Given the description of an element on the screen output the (x, y) to click on. 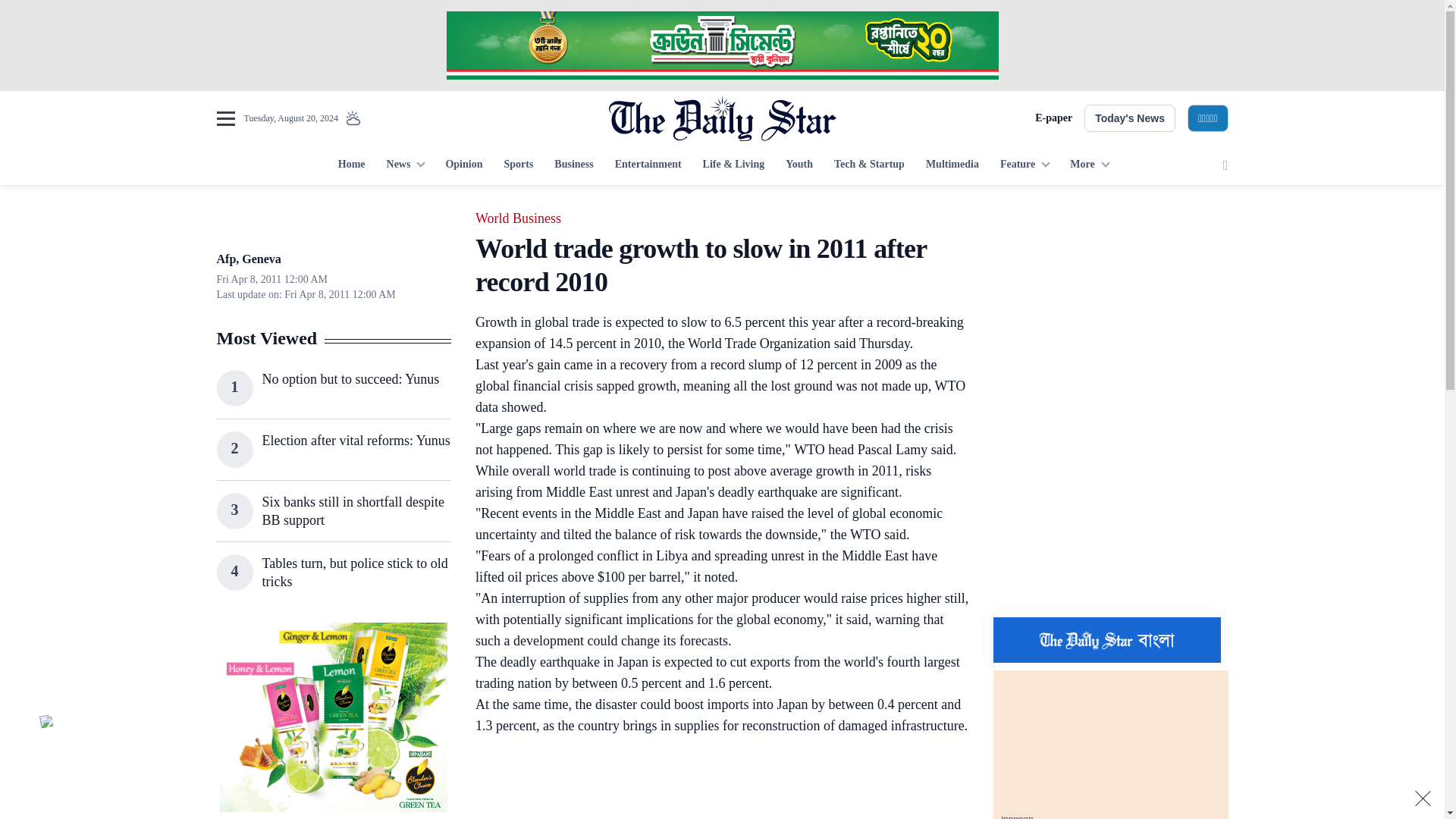
Business (573, 165)
E-paper (1053, 117)
Opinion (463, 165)
Sports (518, 165)
3rd party ad content (332, 717)
Entertainment (647, 165)
Home (351, 165)
News (405, 165)
3rd party ad content (1110, 302)
